Given the description of an element on the screen output the (x, y) to click on. 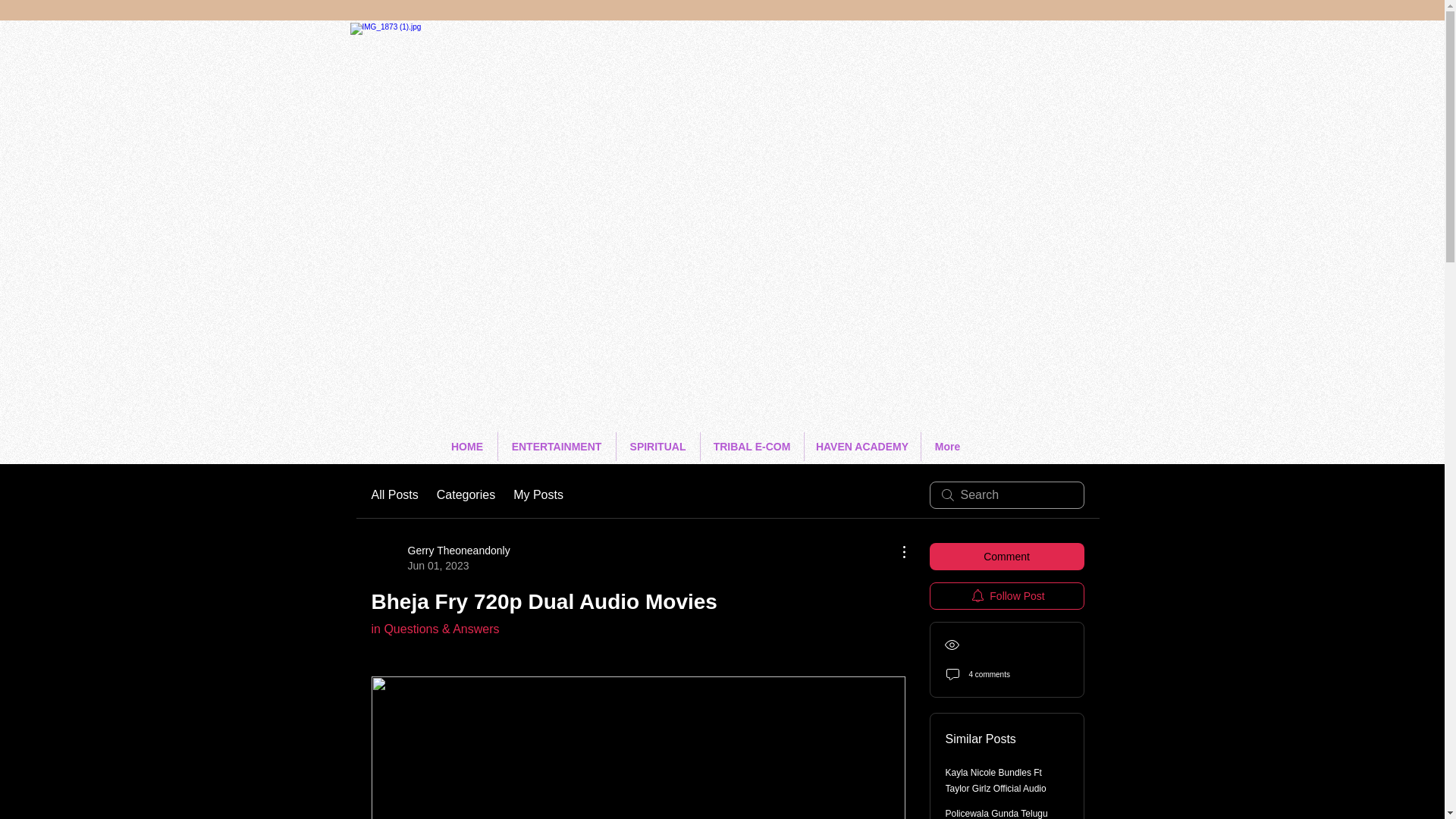
SPIRITUAL (656, 446)
My Posts (538, 495)
HOME (466, 446)
Categories (465, 495)
TRIBAL E-COM (751, 446)
HAVEN ACADEMY (861, 446)
ENTERTAINMENT (555, 446)
All Posts (441, 557)
